Given the description of an element on the screen output the (x, y) to click on. 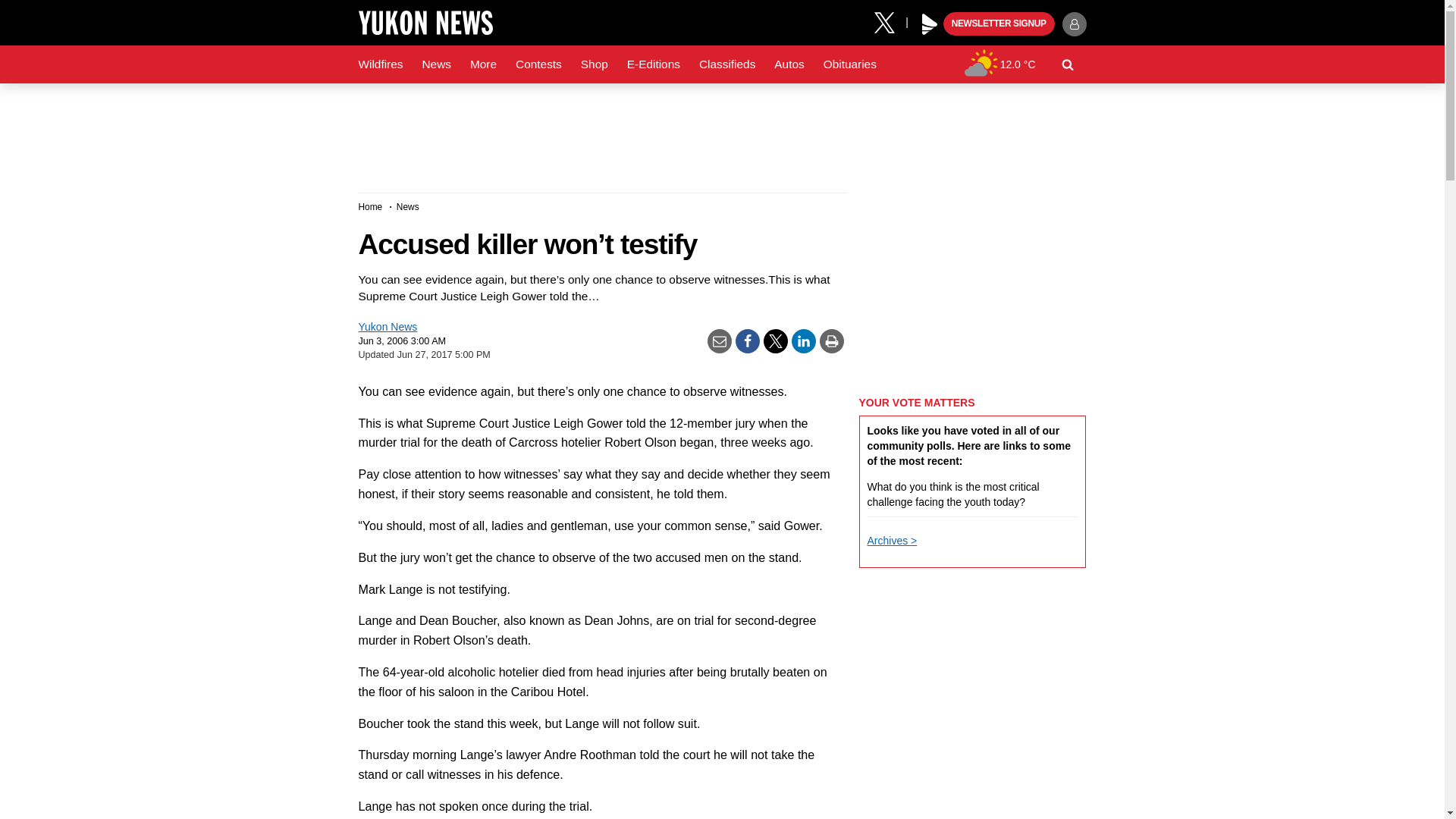
Wildfires (380, 64)
NEWSLETTER SIGNUP (998, 24)
Black Press Media (929, 24)
News (435, 64)
X (889, 21)
Play (929, 24)
